Given the description of an element on the screen output the (x, y) to click on. 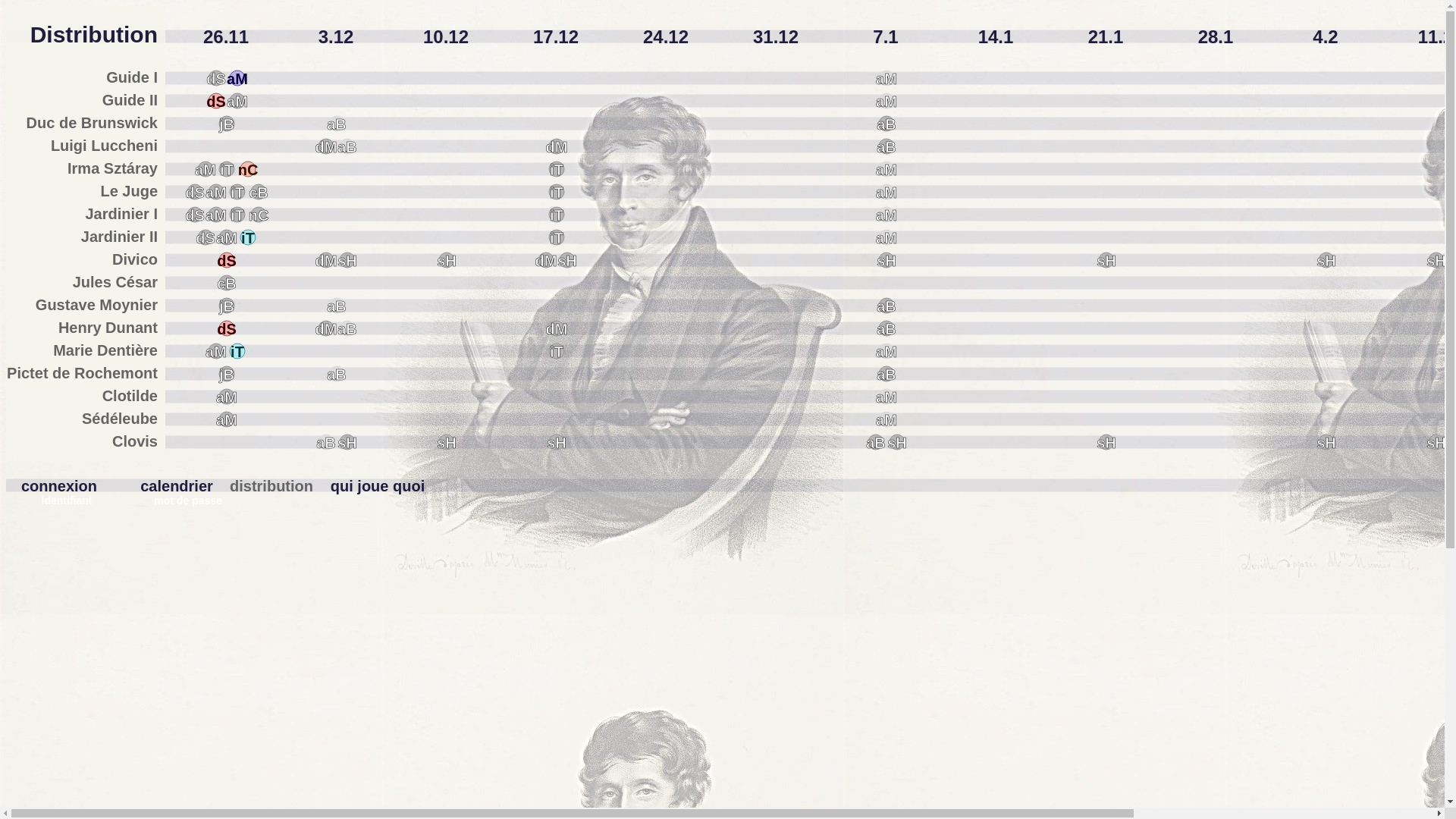
iT Element type: text (556, 237)
sH Element type: text (779, 564)
aB Element type: text (336, 123)
xI Element type: text (938, 564)
sH Element type: text (1435, 442)
aB Element type: text (886, 305)
aB Element type: text (346, 146)
iT Element type: text (415, 564)
sH Element type: text (1325, 442)
bD Element type: text (460, 564)
dS Element type: text (194, 214)
dM Element type: text (556, 146)
dM Element type: text (325, 146)
aB Element type: text (336, 373)
iT Element type: text (236, 191)
iT Element type: text (556, 169)
gP Element type: text (551, 564)
eM Element type: text (437, 564)
cB Element type: text (710, 564)
dS Element type: text (205, 237)
aB Element type: text (886, 123)
dS Element type: text (194, 191)
nC Element type: text (688, 564)
hD Element type: text (324, 564)
aM Element type: text (205, 169)
aM Element type: text (236, 100)
dB Element type: text (733, 564)
sH Element type: text (566, 260)
sH Element type: text (1325, 260)
sH Element type: text (556, 442)
sH Element type: text (1106, 442)
aM Element type: text (215, 191)
aM Element type: text (886, 191)
md Element type: text (665, 564)
aB Element type: text (886, 328)
nC Element type: text (247, 169)
iT Element type: text (556, 191)
yG Element type: text (574, 564)
sH Element type: text (346, 260)
mD Element type: text (506, 564)
aM Element type: text (215, 214)
aB Element type: text (886, 373)
iT Element type: text (236, 214)
aB Element type: text (875, 442)
sH Element type: text (1106, 260)
iT Element type: text (556, 351)
cB Element type: text (226, 282)
dS Element type: text (187, 564)
sH Element type: text (346, 442)
sH Element type: text (886, 260)
sH Element type: text (1435, 260)
cT Element type: text (346, 564)
aM Element type: text (226, 237)
aB Element type: text (886, 146)
jB Element type: text (233, 564)
vD Element type: text (528, 564)
aM Element type: text (886, 237)
cB Element type: text (258, 191)
xE Element type: text (847, 564)
aM Element type: text (886, 214)
dS Element type: text (226, 328)
iT Element type: text (236, 351)
nC Element type: text (258, 214)
lS Element type: text (756, 564)
sH Element type: text (446, 442)
aB Element type: text (483, 564)
jB Element type: text (226, 123)
xF Element type: text (870, 564)
sH Element type: text (446, 260)
pC Element type: text (619, 564)
dM Element type: text (325, 260)
calendrier Element type: text (176, 486)
jB Element type: text (226, 305)
qui joue quoi Element type: text (377, 486)
aP Element type: text (597, 564)
dM Element type: text (545, 260)
dS Element type: text (215, 78)
xJ Element type: text (961, 564)
aM Element type: text (236, 78)
jB Element type: text (226, 373)
iT Element type: text (226, 169)
nB Element type: text (392, 564)
aM Element type: text (886, 100)
dS Element type: text (226, 260)
xG Element type: text (892, 564)
aB Element type: text (325, 442)
dM Element type: text (325, 328)
aB Element type: text (346, 328)
aM Element type: text (301, 564)
aM Element type: text (886, 419)
aM Element type: text (886, 396)
xD Element type: text (824, 564)
aM Element type: text (226, 396)
aM Element type: text (886, 78)
aM Element type: text (886, 351)
aM Element type: text (226, 419)
aM Element type: text (886, 169)
xH Element type: text (915, 564)
aM Element type: text (215, 351)
dM Element type: text (278, 564)
connexion Element type: text (58, 486)
xC Element type: text (801, 564)
dR Element type: text (369, 564)
fR Element type: text (255, 564)
iT Element type: text (556, 214)
iT Element type: text (247, 237)
dM Element type: text (556, 328)
sH Element type: text (896, 442)
aB Element type: text (336, 305)
fA Element type: text (642, 564)
pB Element type: text (210, 564)
dS Element type: text (215, 100)
